Given the description of an element on the screen output the (x, y) to click on. 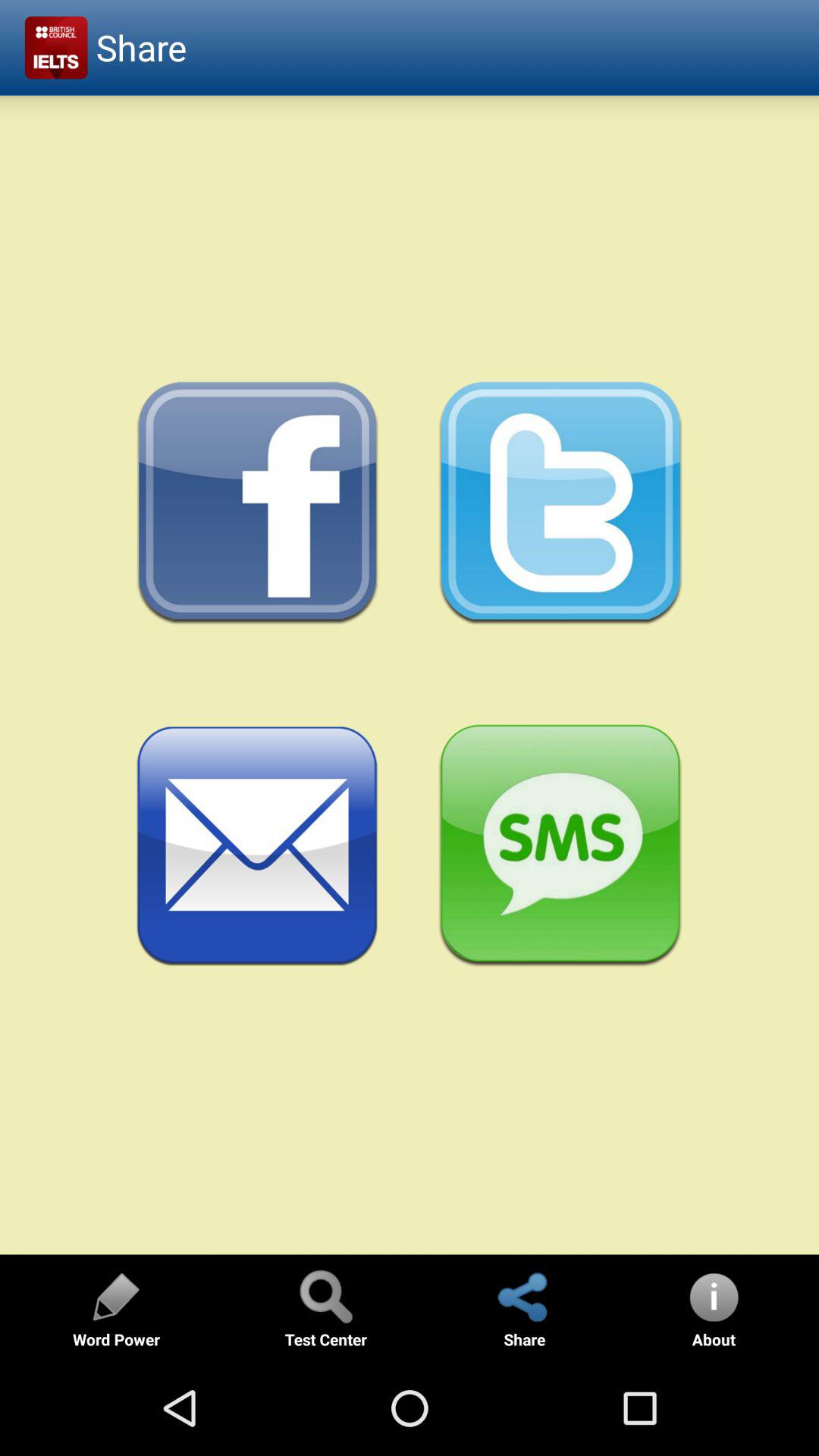
search page (325, 1296)
